Given the description of an element on the screen output the (x, y) to click on. 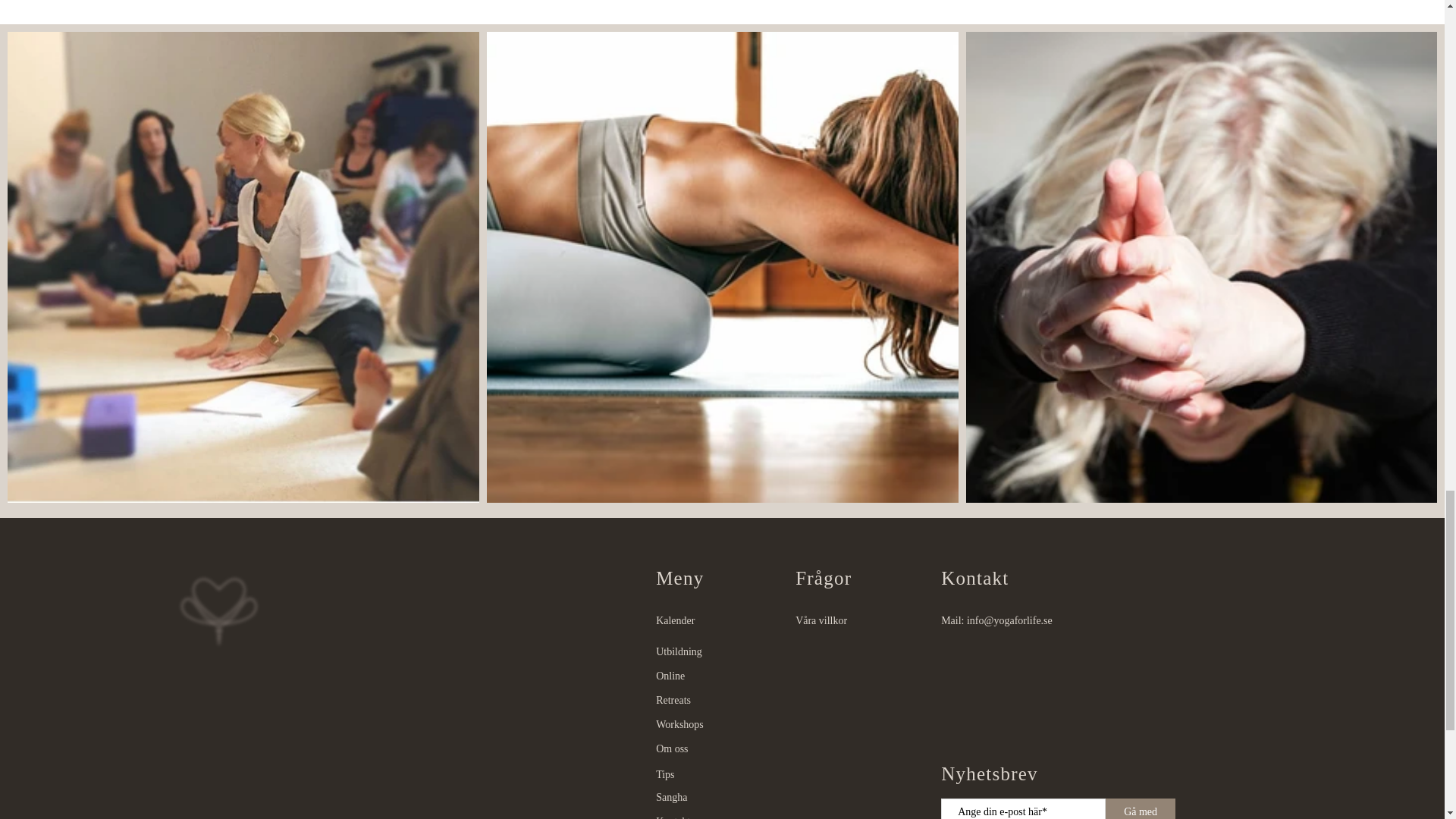
Tips (709, 774)
Workshops (709, 724)
Om oss (709, 748)
Utbildning (709, 651)
Retreats (709, 700)
Online (709, 676)
Sangha (709, 797)
Kalender (709, 620)
Kontakta oss (709, 814)
